Given the description of an element on the screen output the (x, y) to click on. 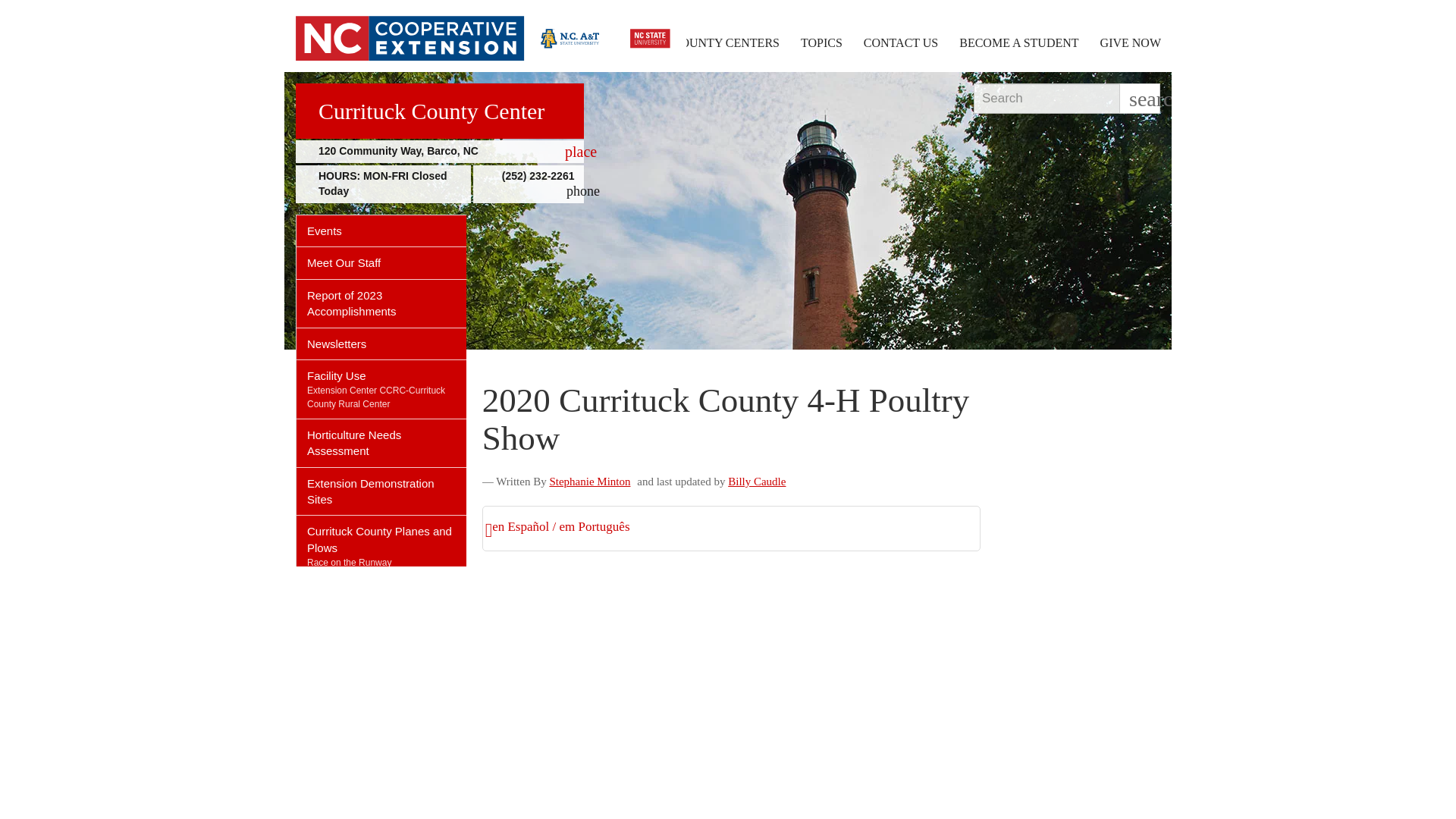
Currituck County Planes and Plows (381, 535)
BECOME A STUDENT (1019, 42)
Newsletters (381, 343)
COUNTY CENTERS (726, 42)
Currituck County Center (439, 110)
GIVE NOW (1130, 42)
Extension Demonstration Sites (381, 491)
TOPICS (821, 42)
Extension Center (342, 389)
